Given the description of an element on the screen output the (x, y) to click on. 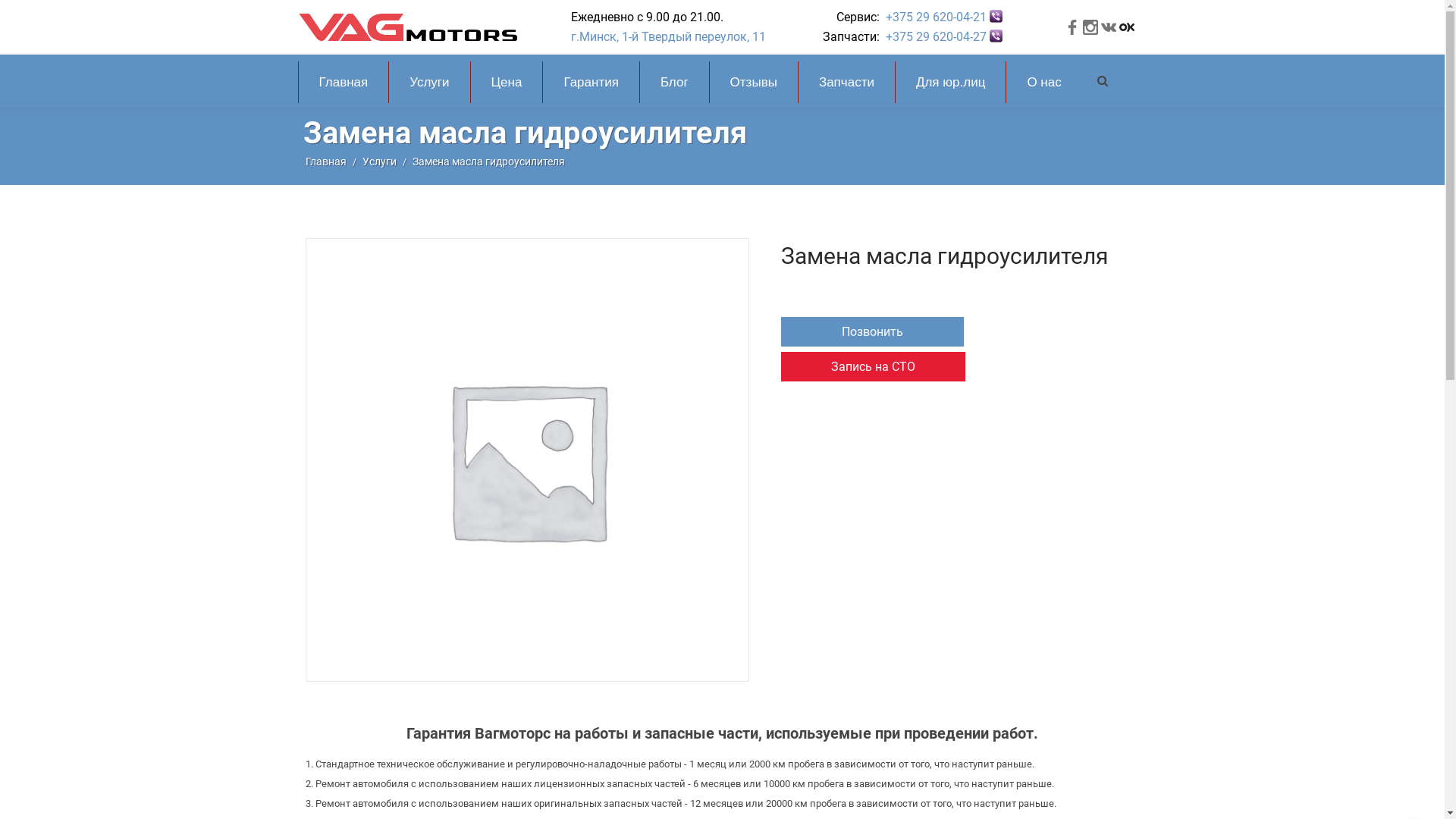
+375 29 620-04-21 Element type: text (935, 16)
+375 29 620-04-27 Element type: text (935, 36)
